Given the description of an element on the screen output the (x, y) to click on. 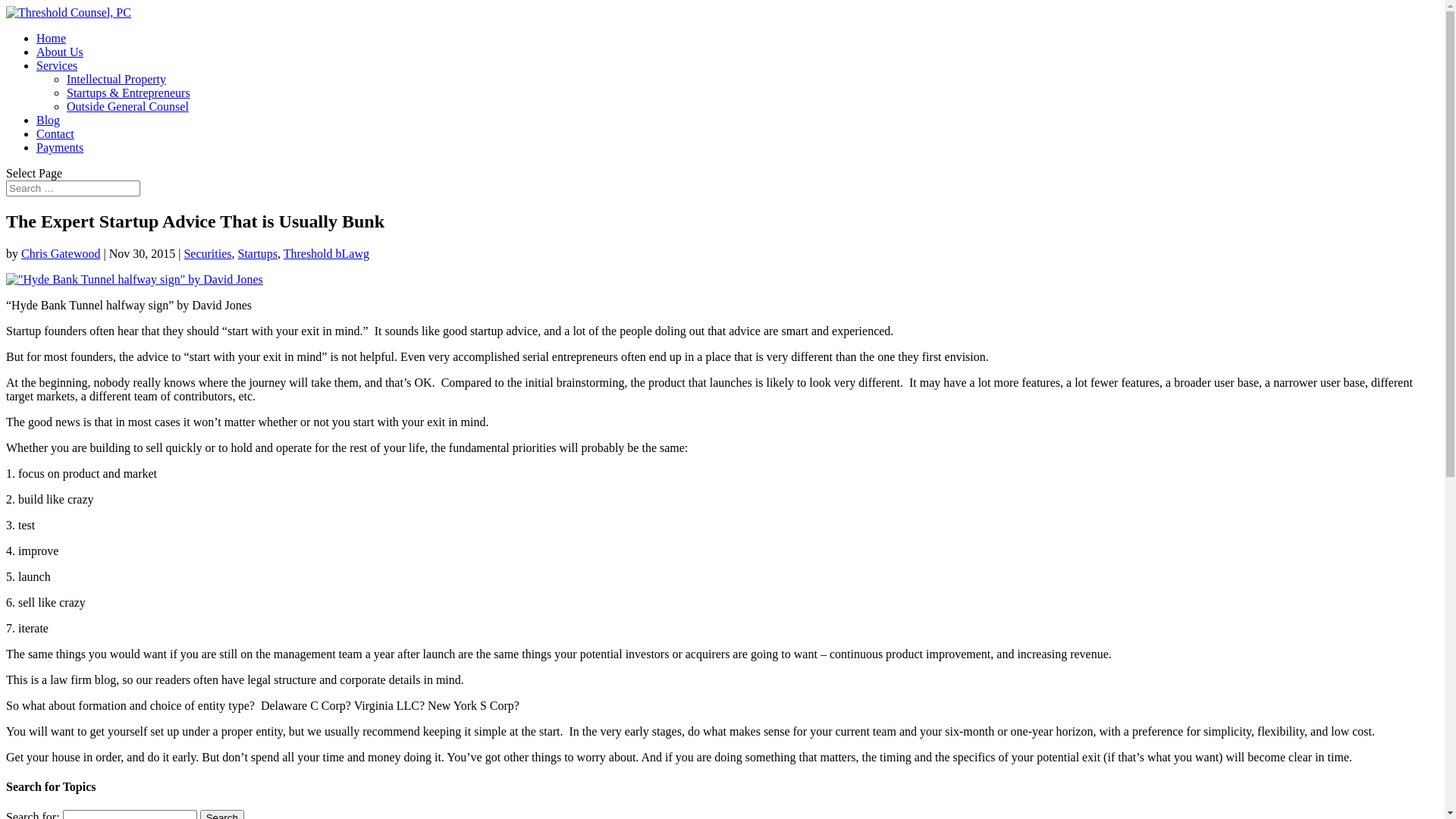
Contact Element type: text (55, 133)
Services Element type: text (56, 65)
Search for: Element type: hover (73, 188)
About Us Element type: text (59, 51)
Home Element type: text (50, 37)
Startups Element type: text (257, 253)
Startups & Entrepreneurs Element type: text (128, 92)
Threshold bLawg Element type: text (326, 253)
Intellectual Property Element type: text (116, 78)
Payments Element type: text (59, 147)
Securities Element type: text (207, 253)
Blog Element type: text (47, 119)
Outside General Counsel Element type: text (127, 106)
Chris Gatewood Element type: text (60, 253)
